Given the description of an element on the screen output the (x, y) to click on. 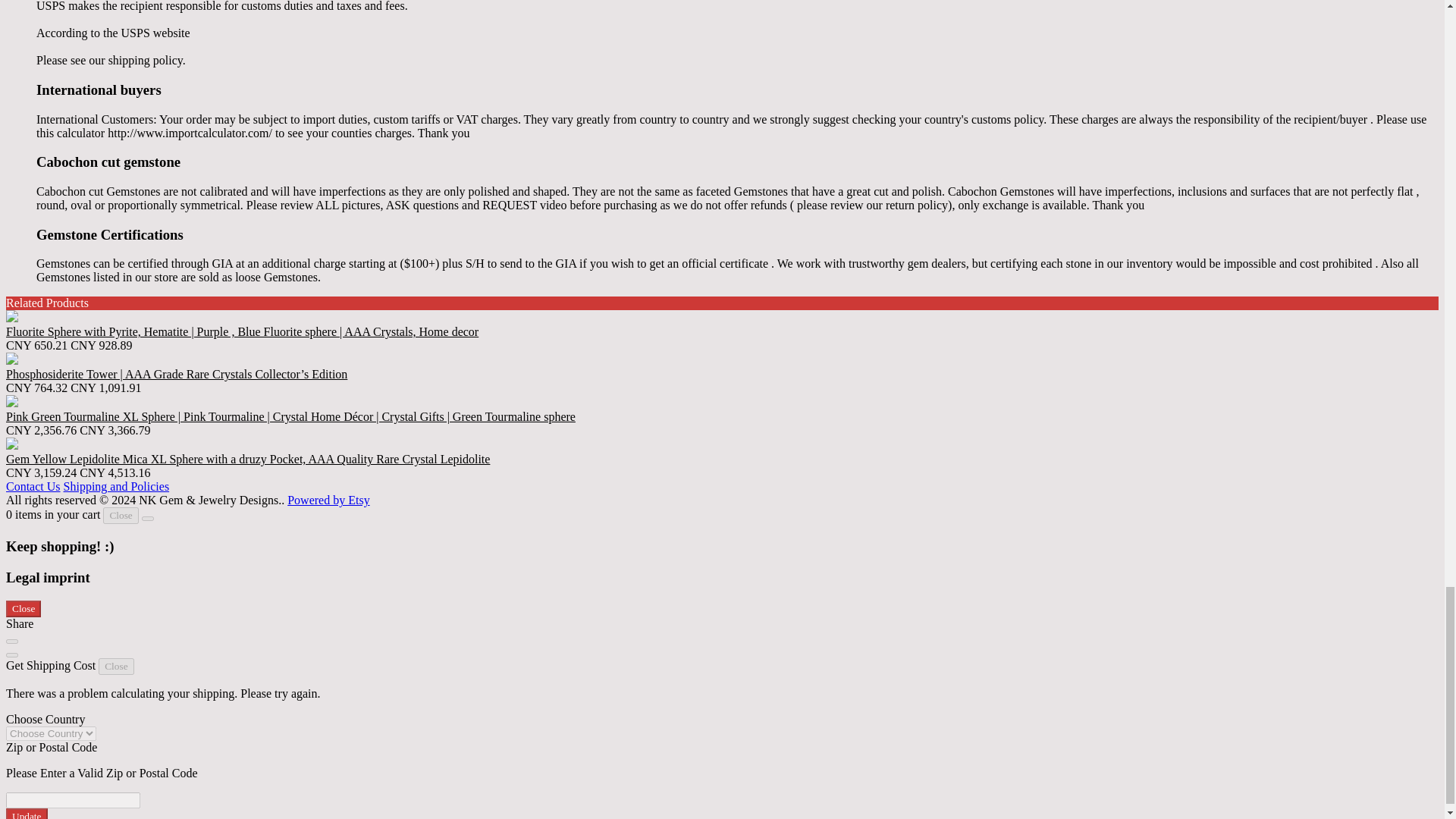
Shipping and Policies (117, 486)
Contact Us (33, 486)
Powered by Etsy (327, 499)
Close (120, 515)
Close (22, 608)
